Given the description of an element on the screen output the (x, y) to click on. 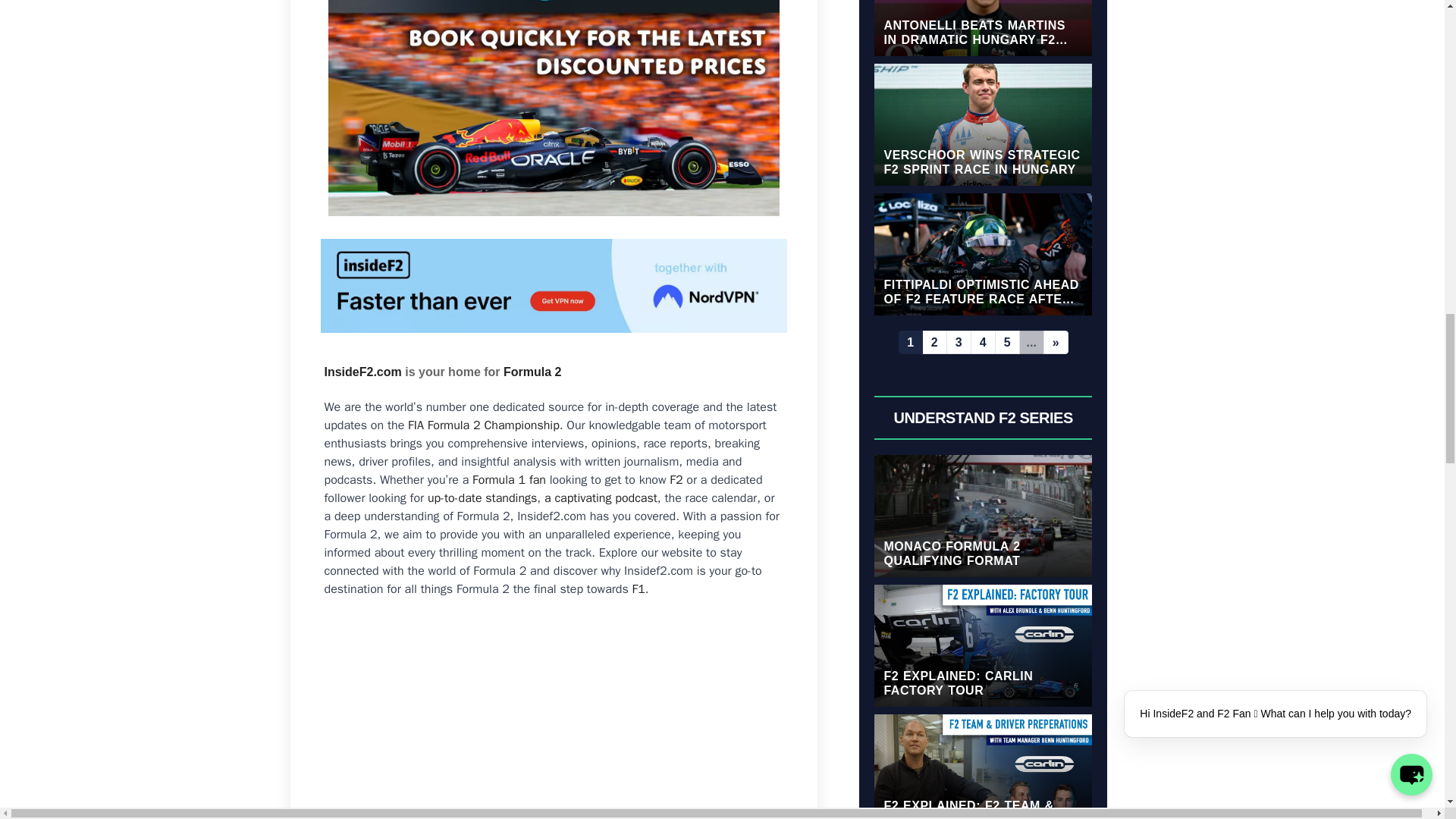
InsideF2.com (362, 371)
Next page (1055, 341)
Formula 2 (531, 371)
